Given the description of an element on the screen output the (x, y) to click on. 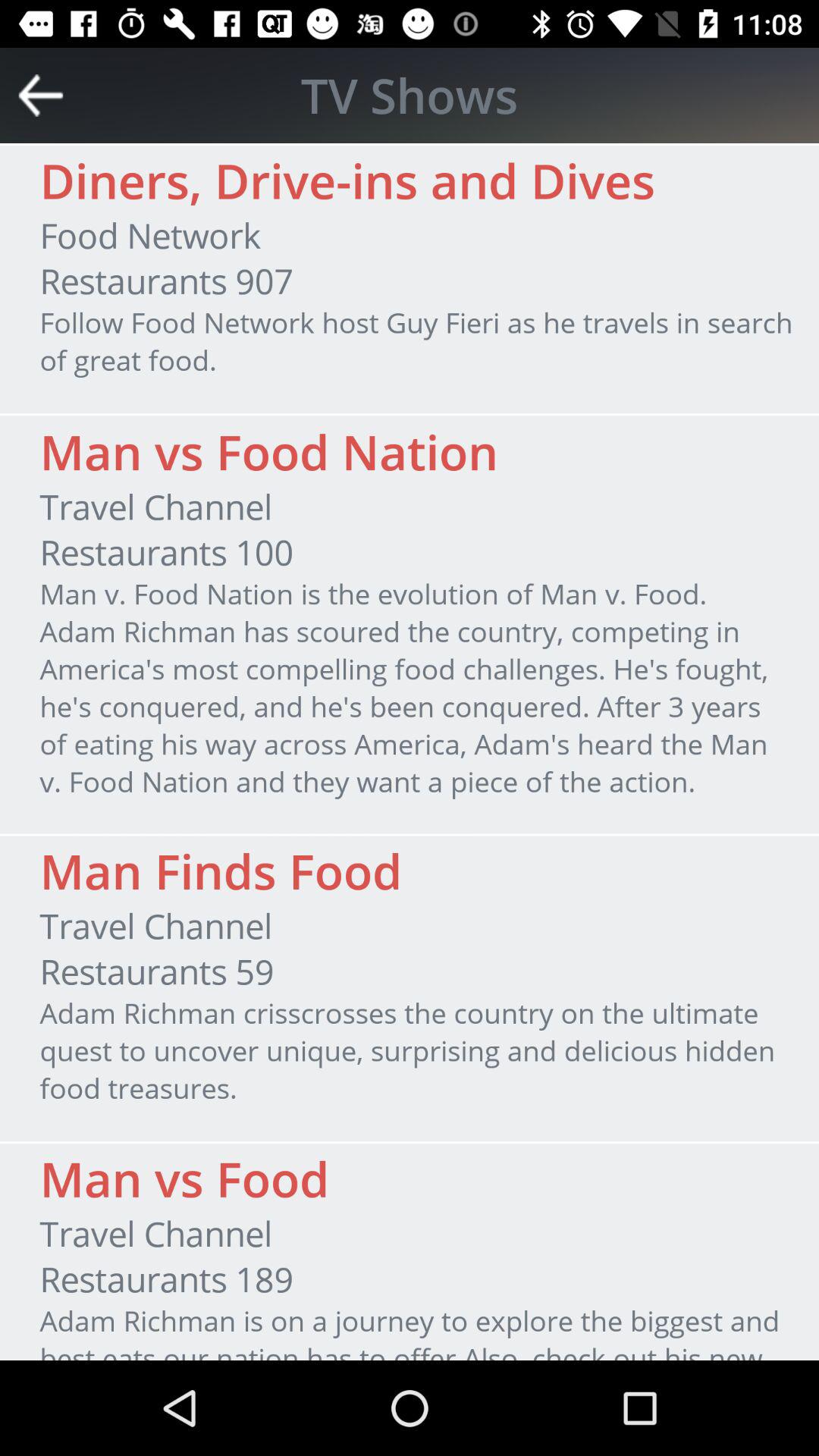
launch the restaurants 100 icon (166, 552)
